Given the description of an element on the screen output the (x, y) to click on. 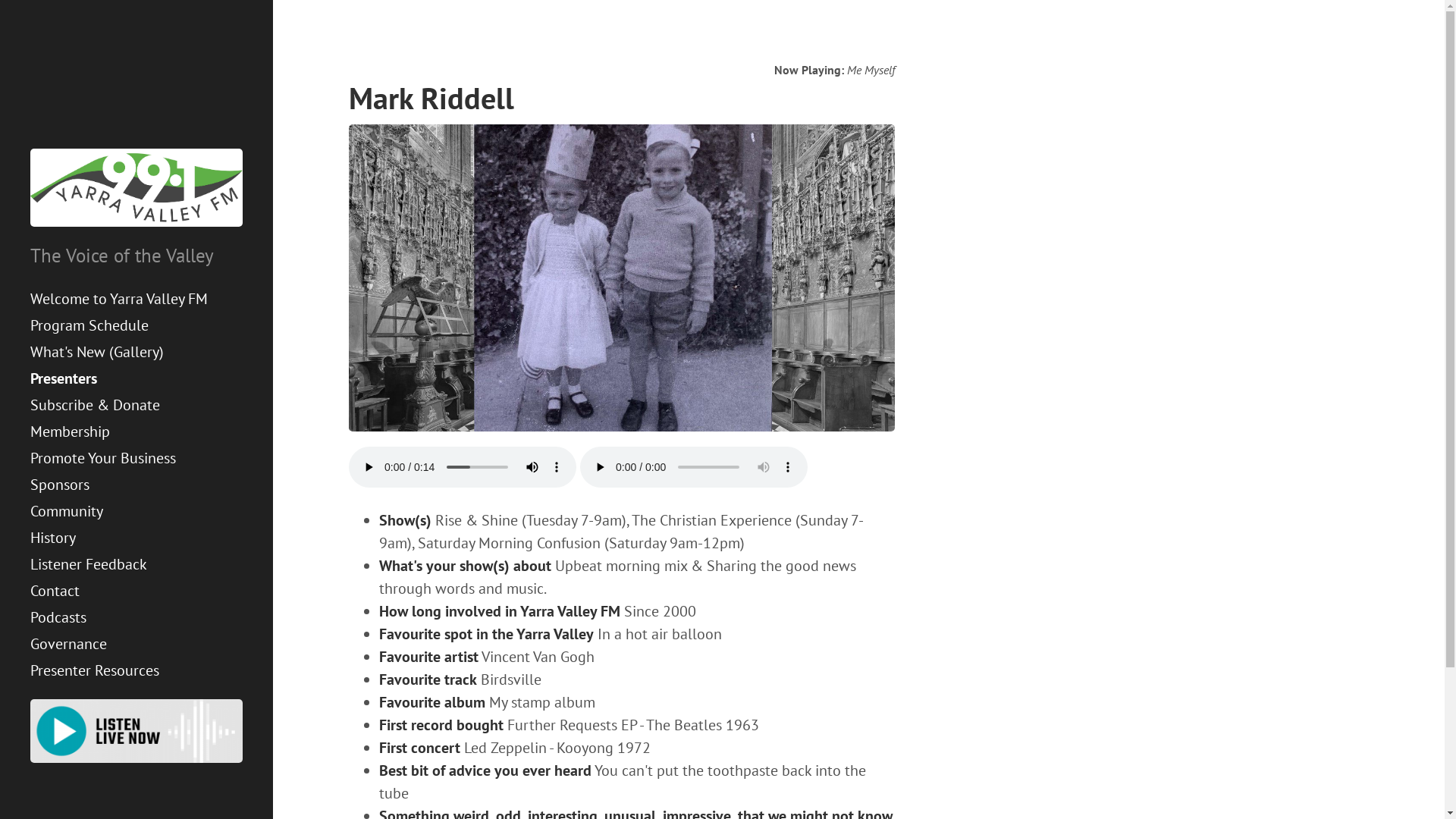
Contact Element type: text (136, 590)
Listener Feedback Element type: text (136, 564)
Sponsors Element type: text (136, 484)
Program Schedule Element type: text (136, 325)
Membership Element type: text (136, 431)
MARK%20CATHEDRAL Element type: hover (621, 277)
What's New (Gallery) Element type: text (136, 351)
Welcome to Yarra Valley FM Element type: text (136, 298)
Presenter Resources Element type: text (136, 670)
Governance Element type: text (136, 643)
Subscribe & Donate Element type: text (136, 405)
Presenters Element type: text (136, 378)
Community Element type: text (136, 511)
Promote Your Business Element type: text (136, 458)
History Element type: text (136, 537)
Podcasts Element type: text (136, 617)
